Given the description of an element on the screen output the (x, y) to click on. 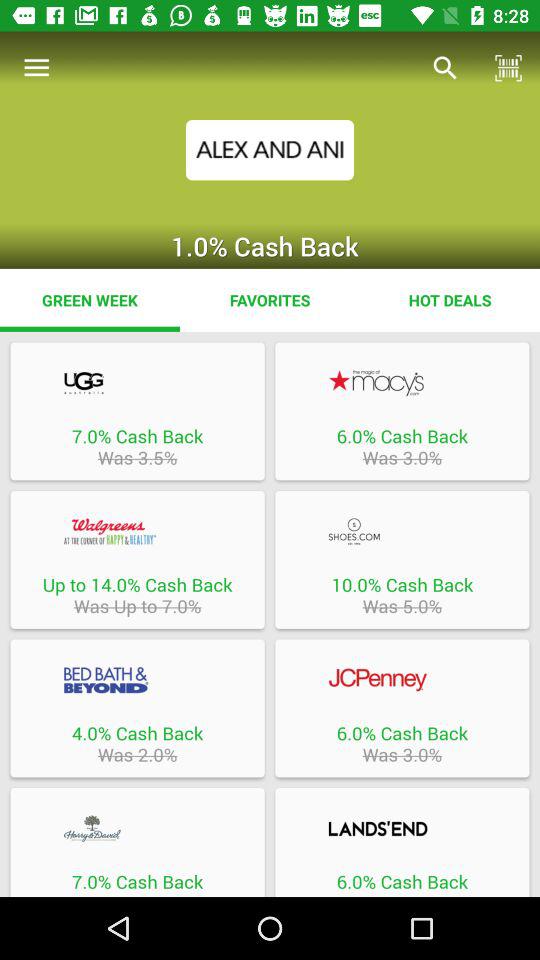
open the specific page (402, 679)
